Given the description of an element on the screen output the (x, y) to click on. 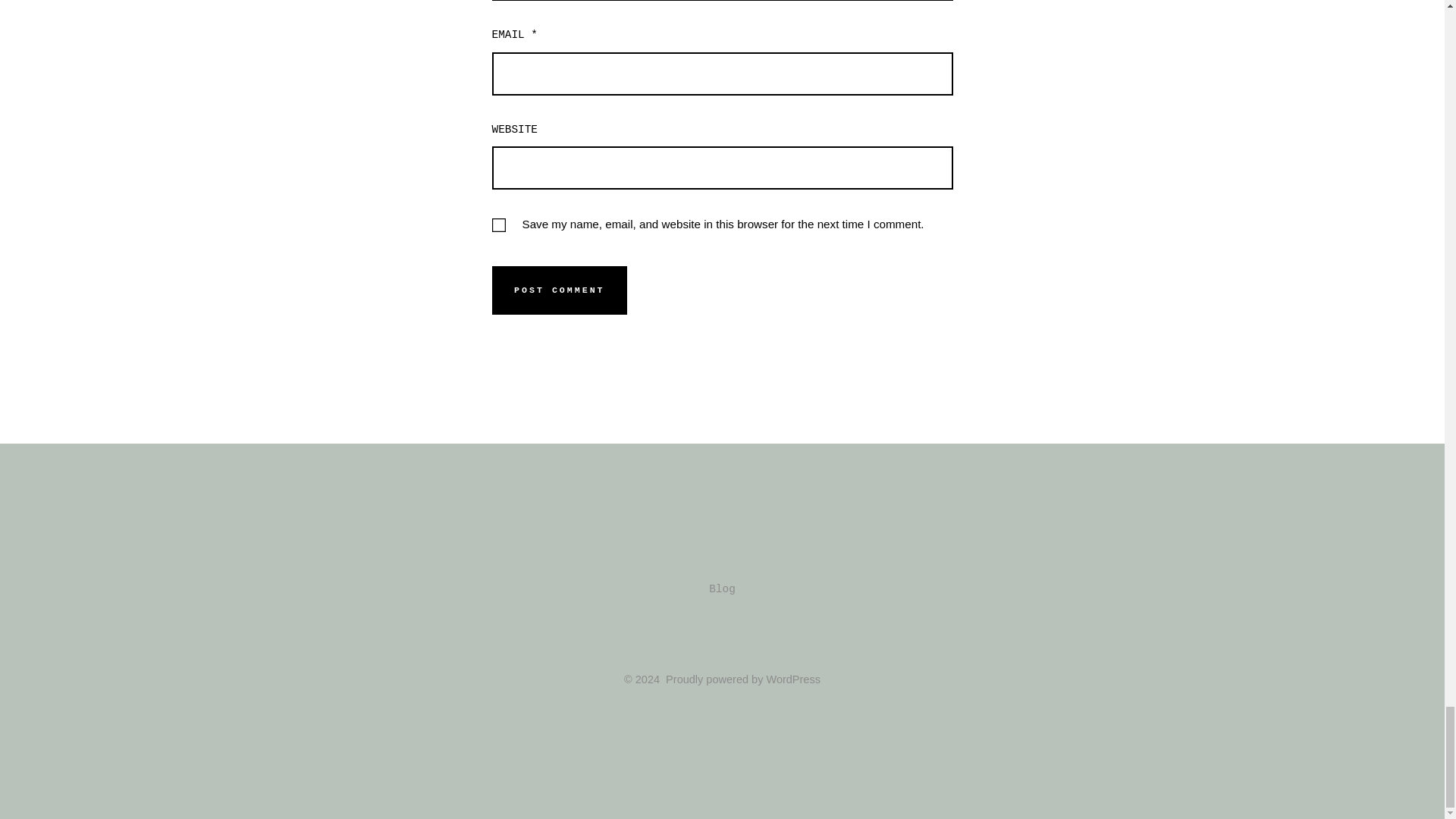
Post Comment (559, 290)
Post Comment (559, 290)
Blog (721, 588)
